Given the description of an element on the screen output the (x, y) to click on. 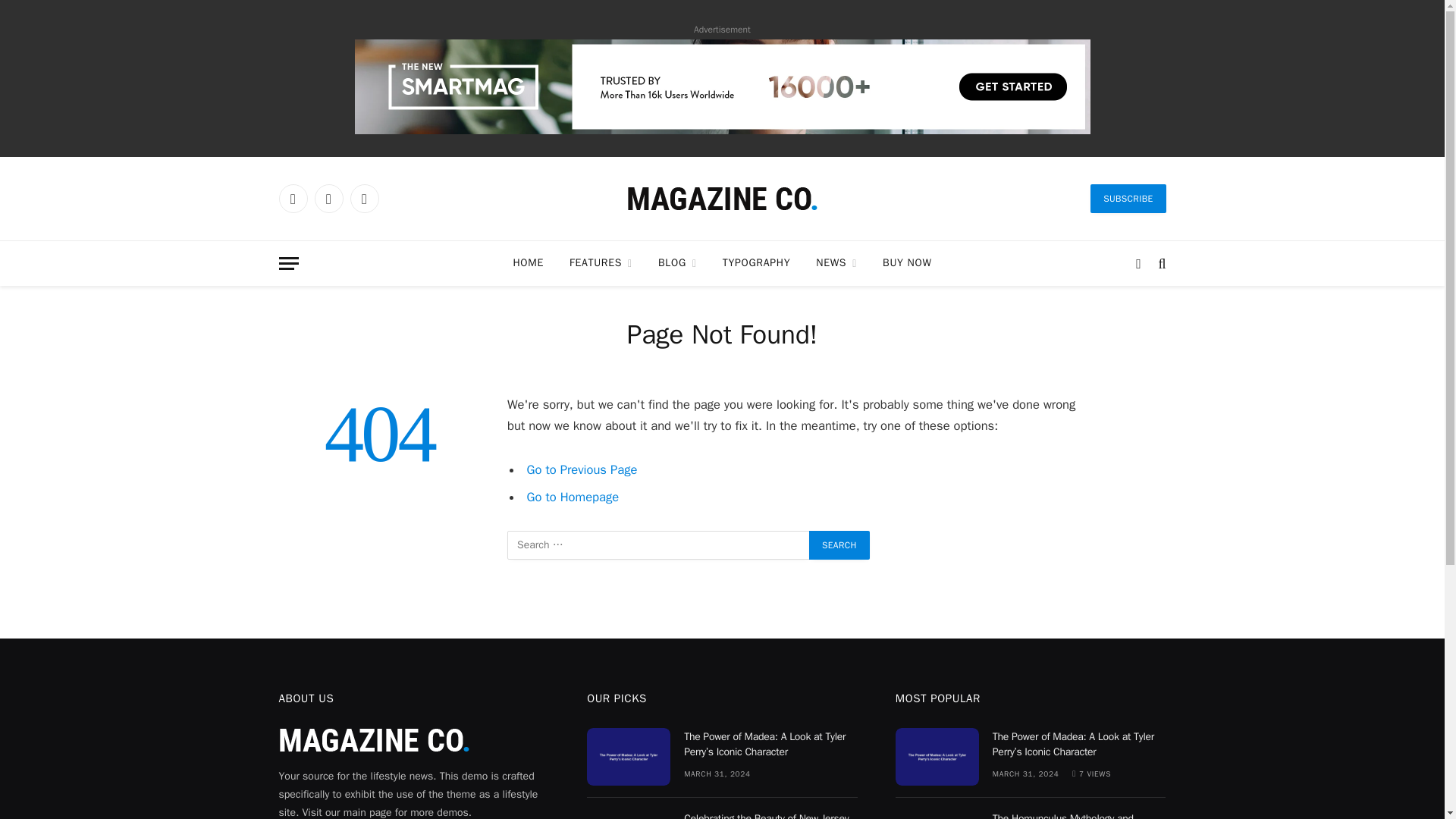
Search (839, 544)
BUY NOW (906, 262)
Switch to Dark Design - easier on eyes. (1138, 263)
NEWS (836, 262)
TYPOGRAPHY (756, 262)
Instagram (364, 198)
BLOG (677, 262)
FEATURES (600, 262)
HOME (527, 262)
Eosty (721, 198)
